Given the description of an element on the screen output the (x, y) to click on. 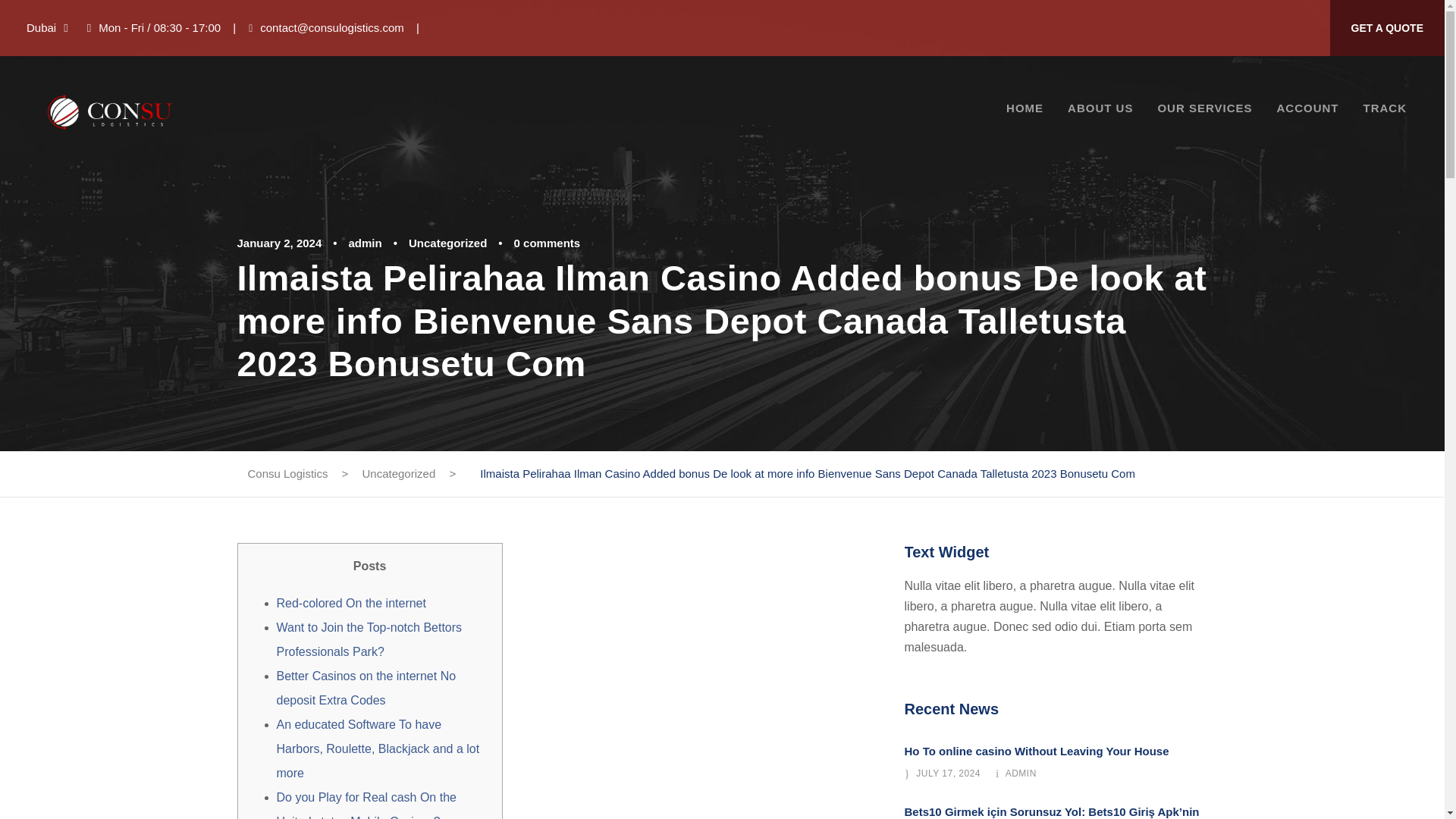
TRACK (1384, 113)
ACCOUNT (1307, 113)
Posts by admin (365, 242)
Posts by admin (1021, 774)
January 2, 2024 (278, 242)
OUR SERVICES (1204, 113)
admin (365, 242)
Go to Consu Logistics. (287, 472)
ABOUT US (1099, 113)
Go to the Uncategorized Category archives. (398, 472)
HOME (1024, 113)
